Given the description of an element on the screen output the (x, y) to click on. 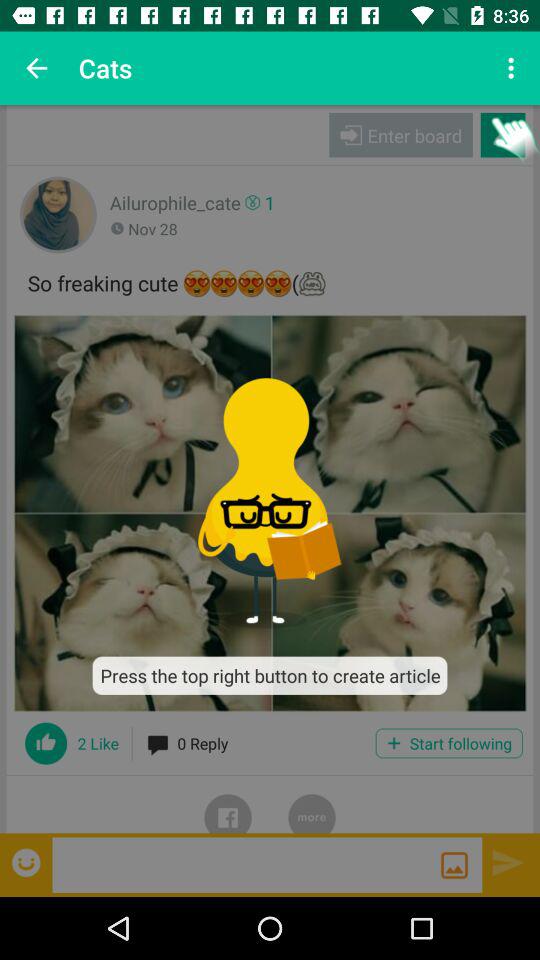
select the icon next to 0 reply (448, 743)
